Given the description of an element on the screen output the (x, y) to click on. 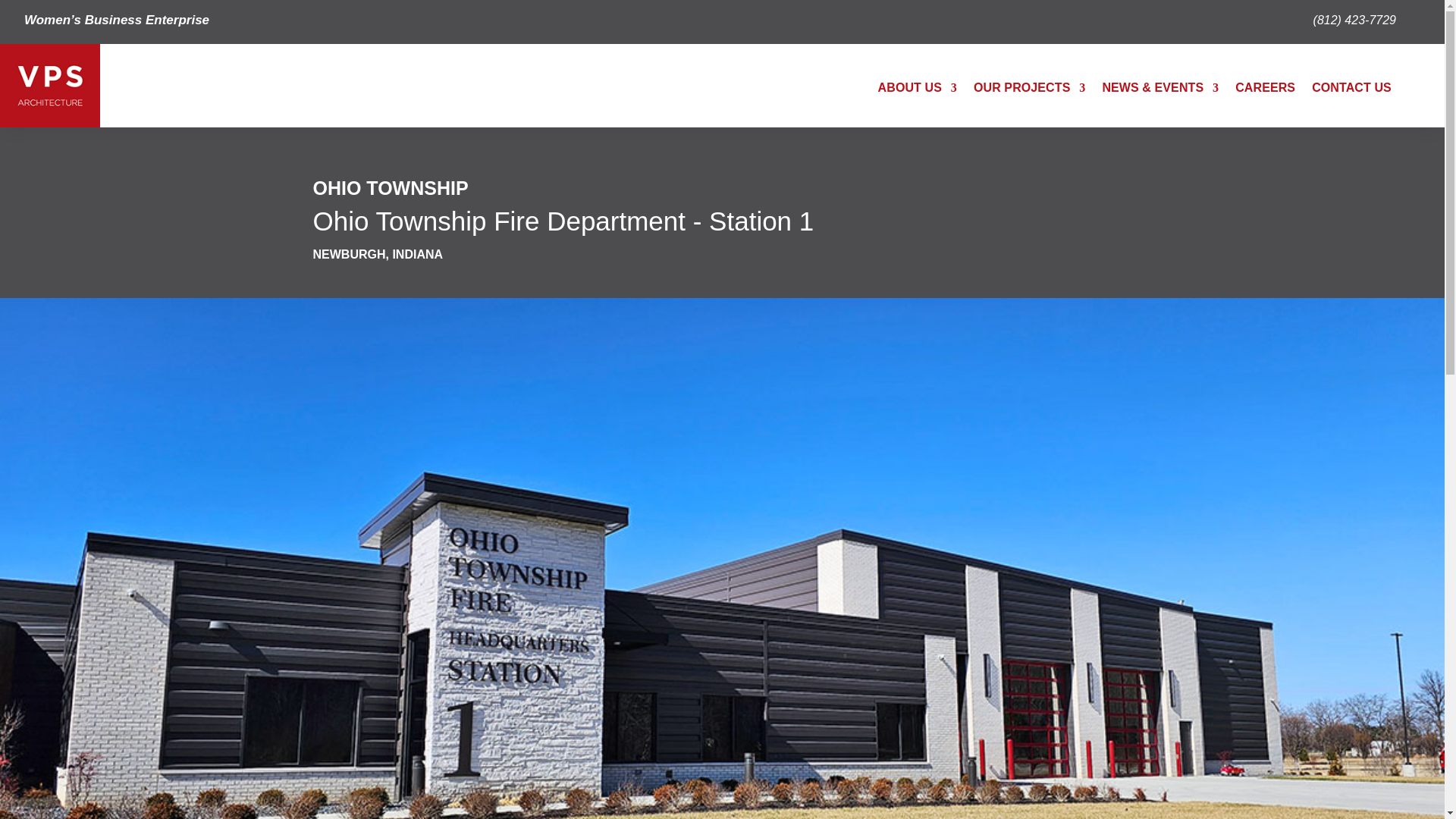
CONTACT US (1351, 90)
CAREERS (1264, 90)
VPS-web-logo-red (50, 85)
OUR PROJECTS (1029, 90)
ABOUT US (916, 90)
